Given the description of an element on the screen output the (x, y) to click on. 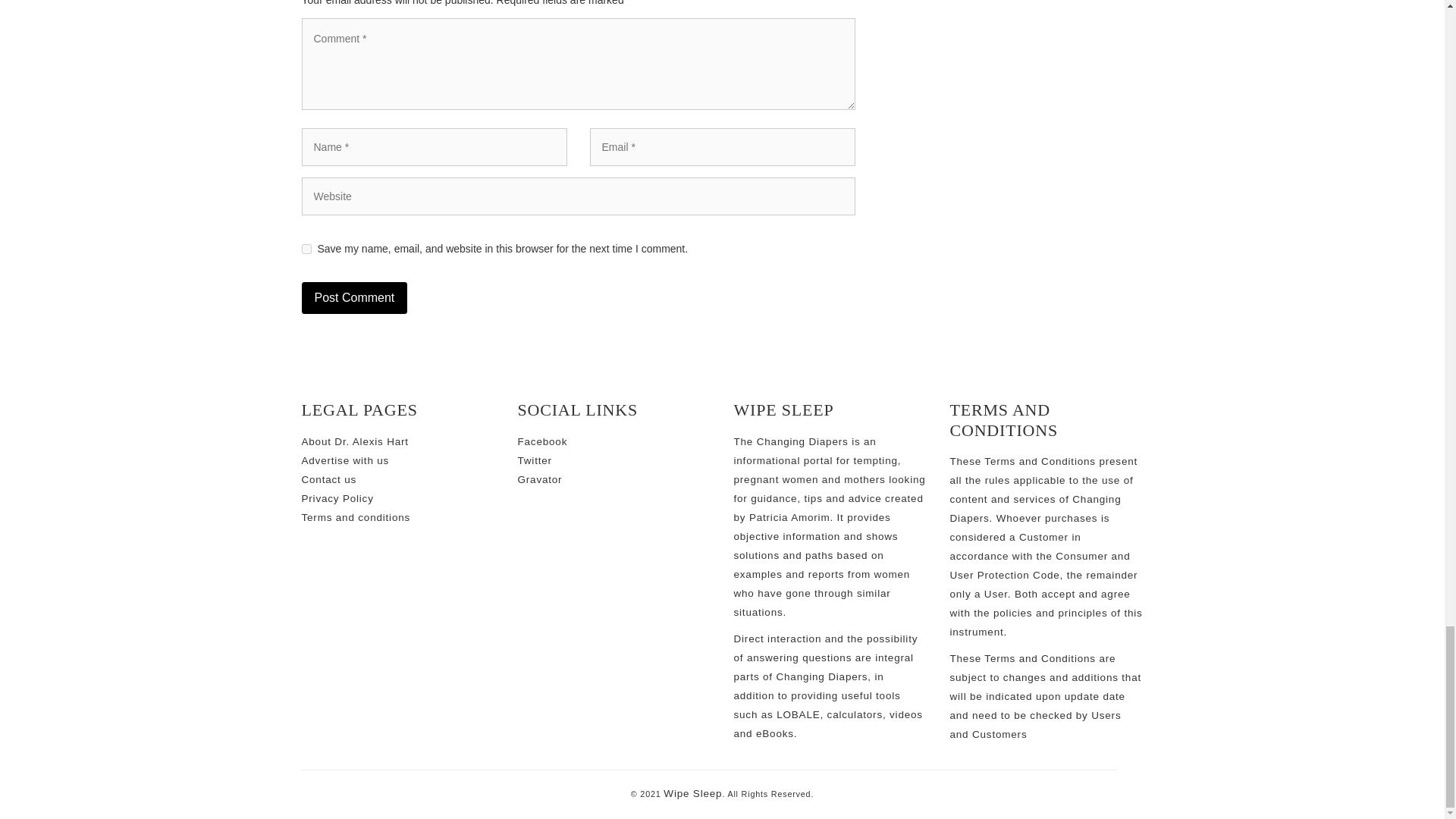
yes (306, 248)
Post Comment (354, 297)
